Given the description of an element on the screen output the (x, y) to click on. 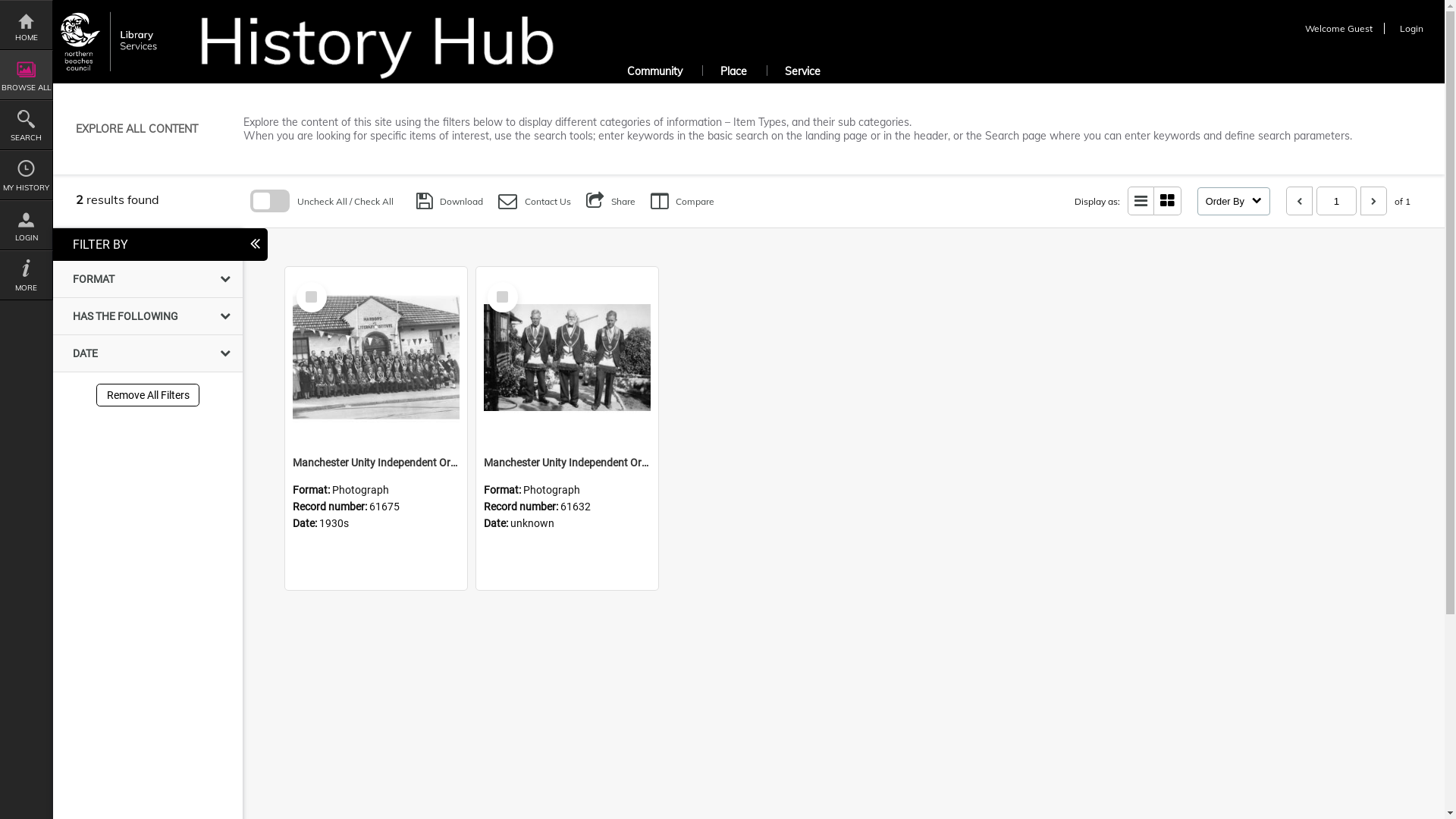
Login Element type: text (1416, 28)
MY HISTORY Element type: text (26, 174)
Manchester Unity Independent Order of Oddfellows, Narrabeen Element type: hover (566, 357)
Place Element type: text (733, 72)
Manchester Unity Independent Order of Oddfellows, Narrabeen Element type: text (566, 462)
LOGIN Element type: text (26, 224)
Order By Element type: text (1233, 200)
Service Element type: text (802, 72)
HOME Element type: text (26, 24)
BROWSE ALL Element type: text (26, 74)
Guest Element type: text (1359, 28)
Community Element type: text (654, 72)
Skip to search block Element type: text (52, 200)
MORE Element type: text (26, 275)
SEARCH Element type: text (26, 124)
